Given the description of an element on the screen output the (x, y) to click on. 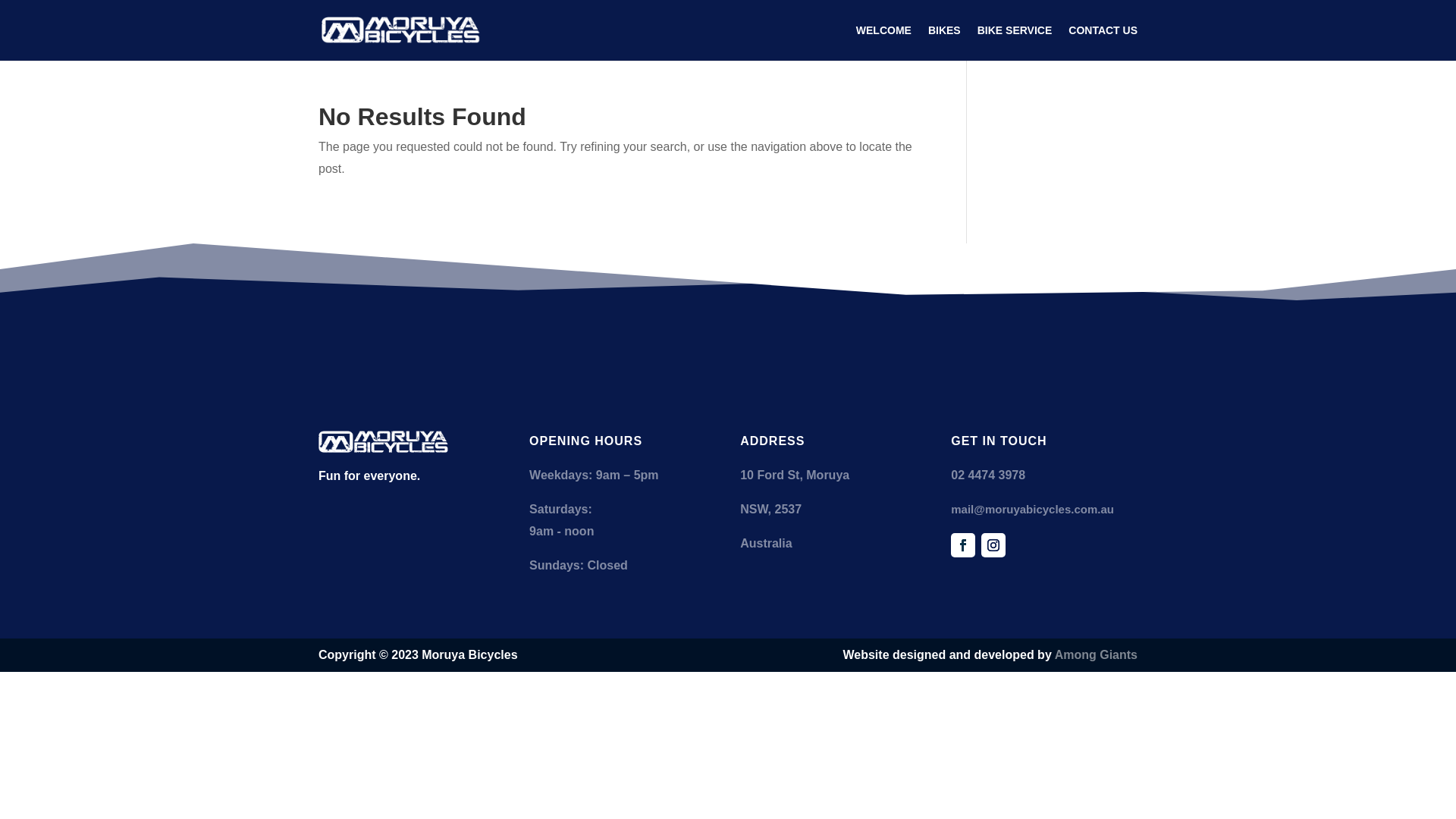
Follow on Facebook Element type: hover (962, 545)
Among Giants Element type: text (1095, 654)
BIKES Element type: text (944, 42)
mail@moruyabicycles.com.au Element type: text (1031, 508)
CONTACT US Element type: text (1102, 42)
Follow on Instagram Element type: hover (993, 545)
BIKE SERVICE Element type: text (1014, 42)
WELCOME Element type: text (883, 42)
MORUYA-BICYCLES-WHITE-SMALL Element type: hover (383, 441)
